Given the description of an element on the screen output the (x, y) to click on. 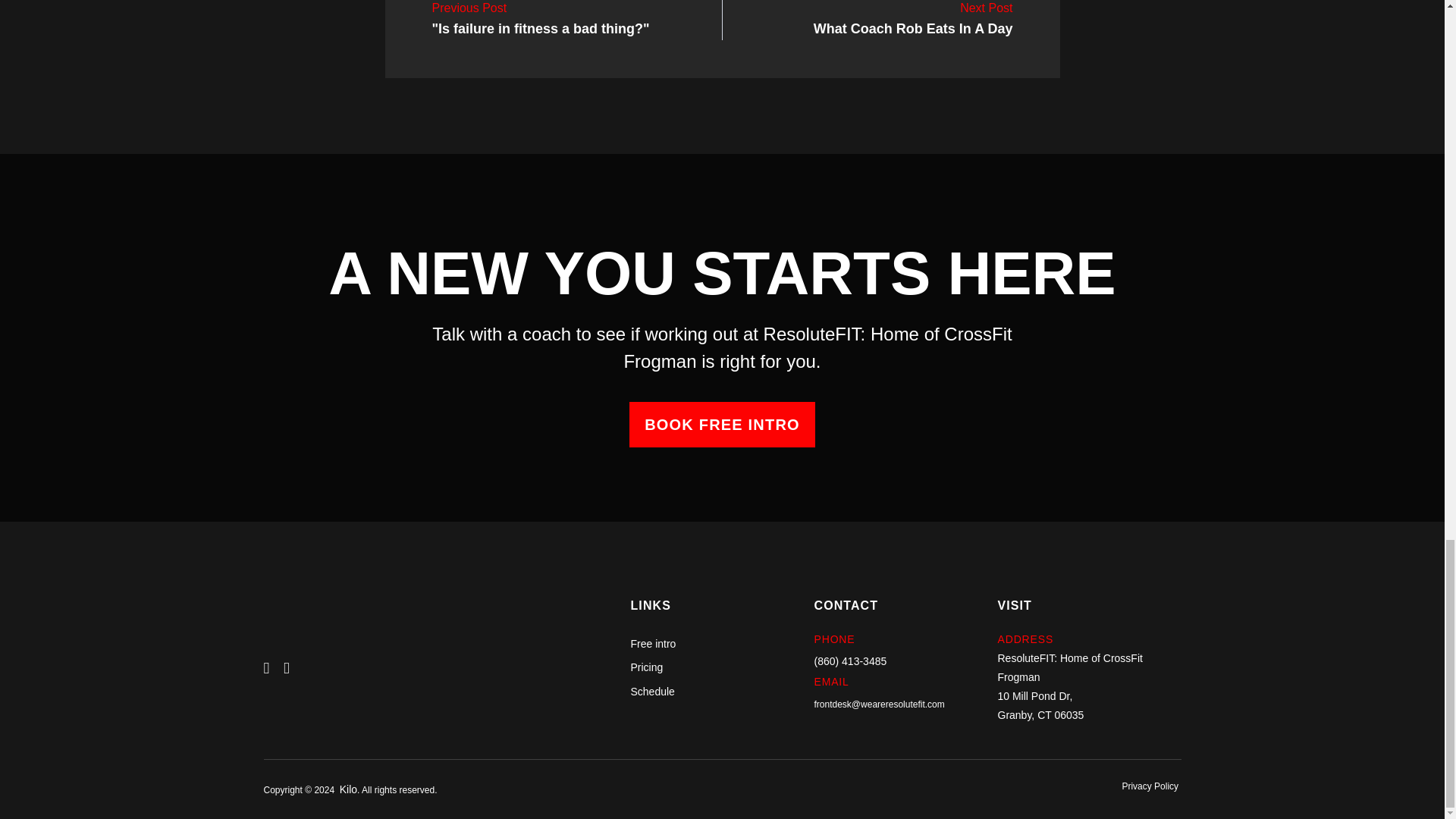
What Coach Rob Eats In A Day (913, 18)
BOOK FREE INTRO (721, 424)
"Is failure in fitness a bad thing?" (913, 18)
